Given the description of an element on the screen output the (x, y) to click on. 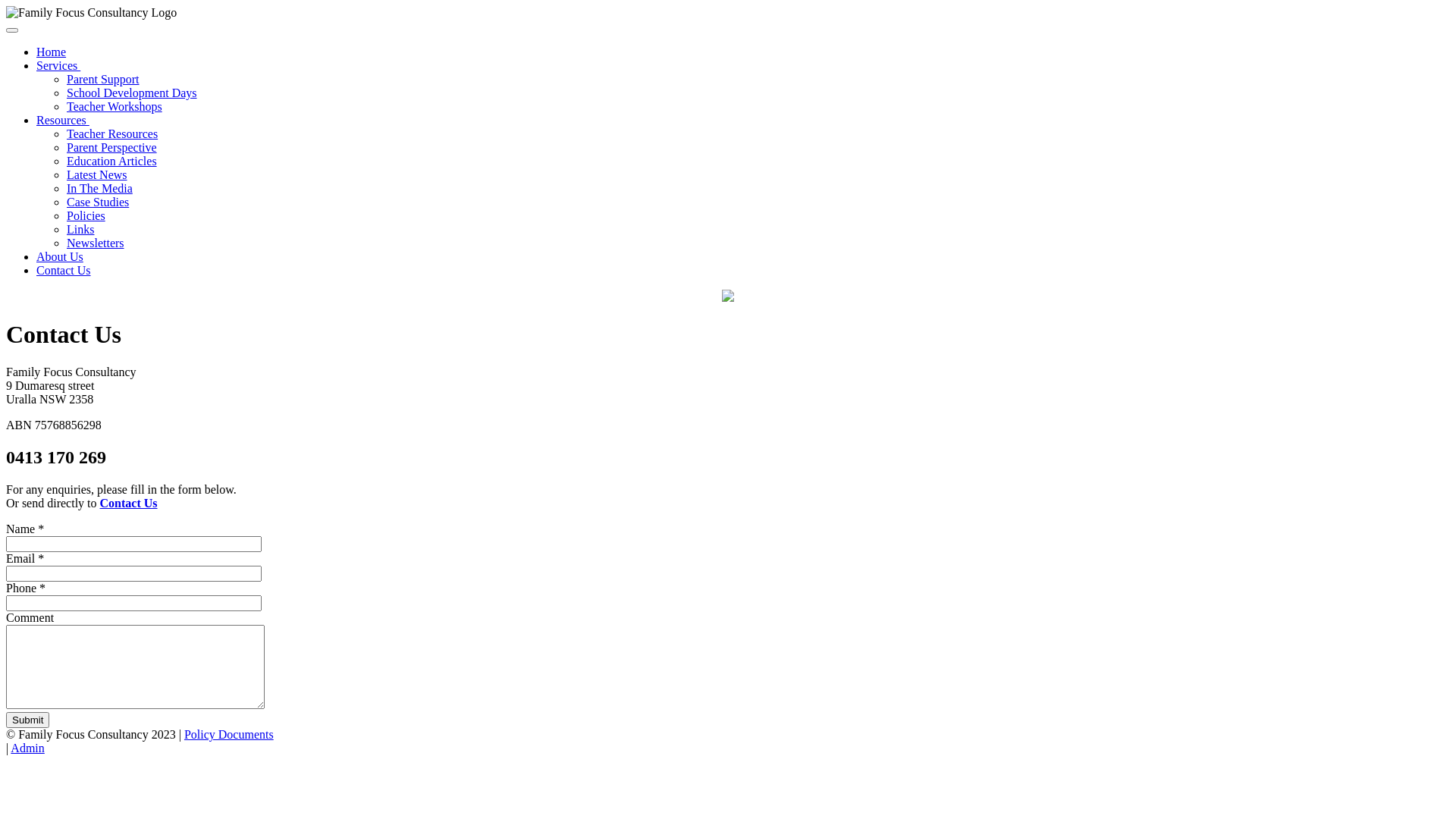
Resources  Element type: text (62, 119)
Policies Element type: text (85, 215)
Home Element type: text (50, 51)
Education Articles Element type: text (111, 160)
Newsletters Element type: text (95, 242)
Admin Element type: text (26, 747)
Links Element type: text (80, 228)
Contact Us Element type: text (128, 502)
Teacher Resources Element type: text (111, 133)
Submit Element type: text (27, 720)
School Development Days Element type: text (131, 92)
Contact Us Element type: text (63, 269)
Services  Element type: text (58, 65)
Parent Perspective Element type: text (111, 147)
Case Studies Element type: text (97, 201)
Parent Support Element type: text (102, 78)
About Us Element type: text (59, 256)
Latest News Element type: text (96, 174)
Policy Documents Element type: text (228, 734)
In The Media Element type: text (99, 188)
Teacher Workshops Element type: text (114, 106)
